Given the description of an element on the screen output the (x, y) to click on. 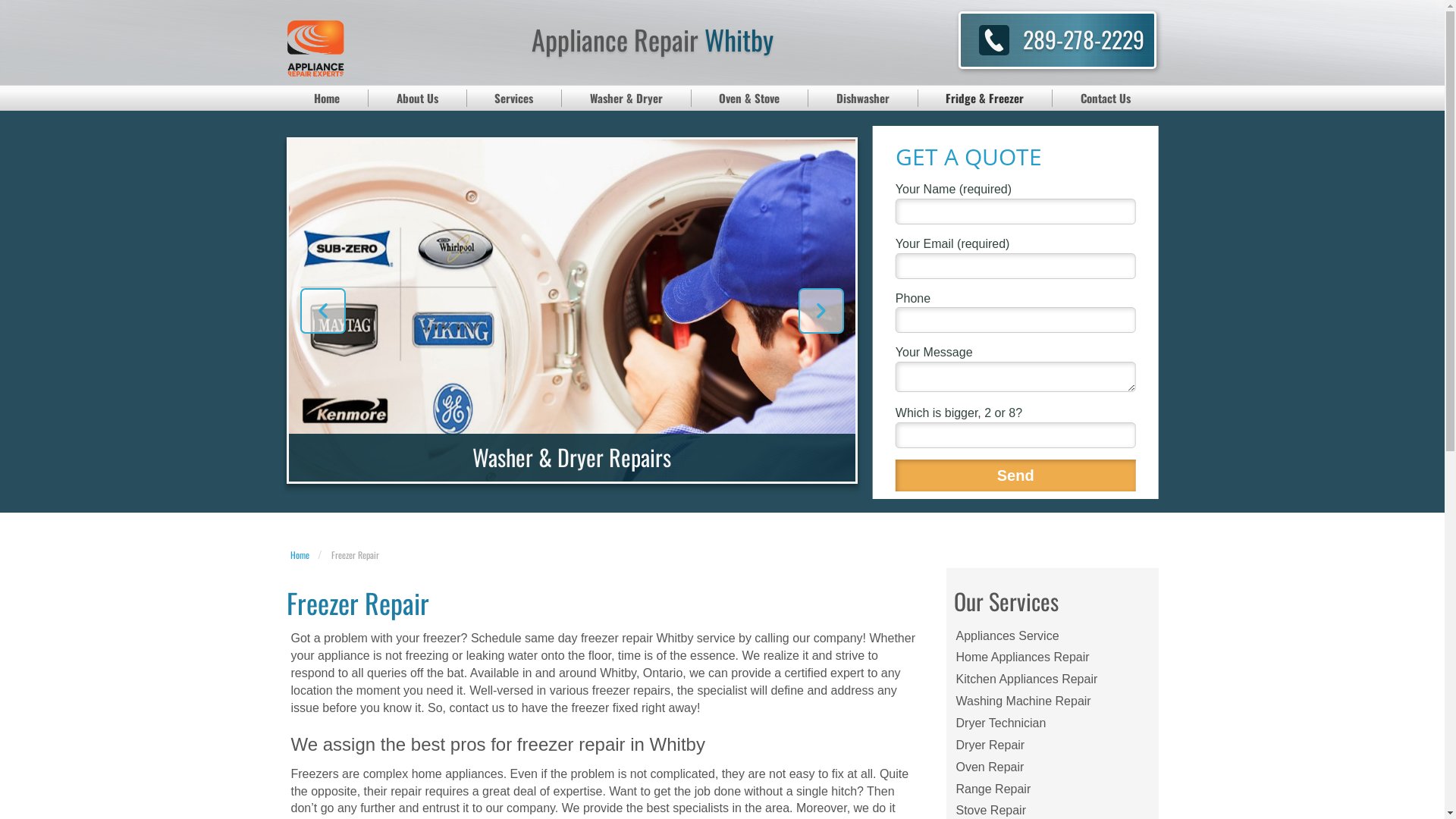
Kitchen Appliances Repair Element type: text (1052, 679)
About Us Element type: text (417, 97)
289-278-2229 Element type: text (1083, 38)
Oven Repair Element type: text (1052, 767)
Home Appliances Repair Element type: text (1052, 657)
Send Element type: text (1015, 475)
Washer & Dryer Element type: text (626, 97)
Contact Us Element type: text (1105, 97)
Washing Machine Repair Element type: text (1052, 701)
Home Element type: text (298, 554)
Oven & Stove Element type: text (750, 97)
Dryer Technician Element type: text (1052, 723)
Range Repair Element type: text (1052, 789)
Appliances Service Element type: text (1052, 636)
Home Element type: text (327, 97)
Dishwasher Element type: text (863, 97)
Fridge & Freezer Element type: text (984, 97)
Services Element type: text (514, 97)
Dryer Repair Element type: text (1052, 745)
